Given the description of an element on the screen output the (x, y) to click on. 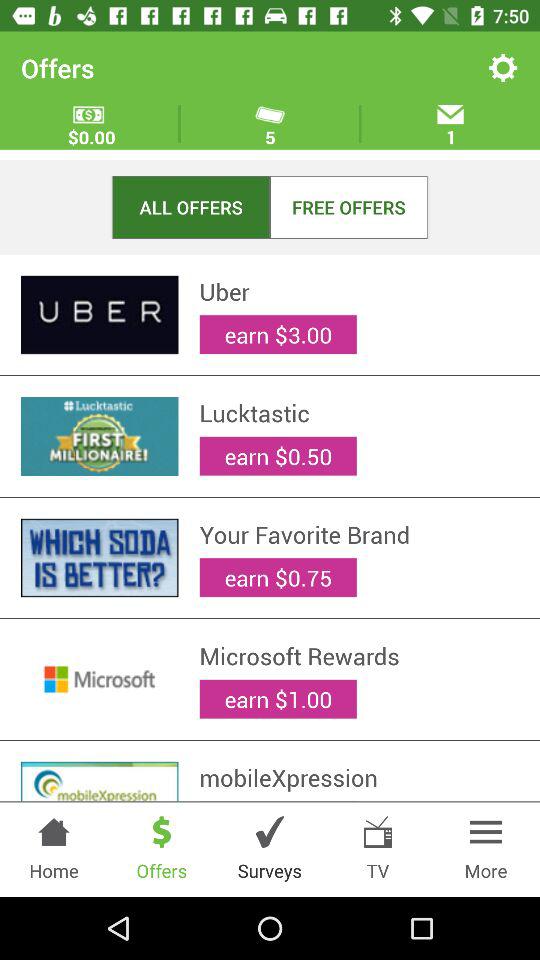
tap item above the earn $0.75 item (359, 534)
